Given the description of an element on the screen output the (x, y) to click on. 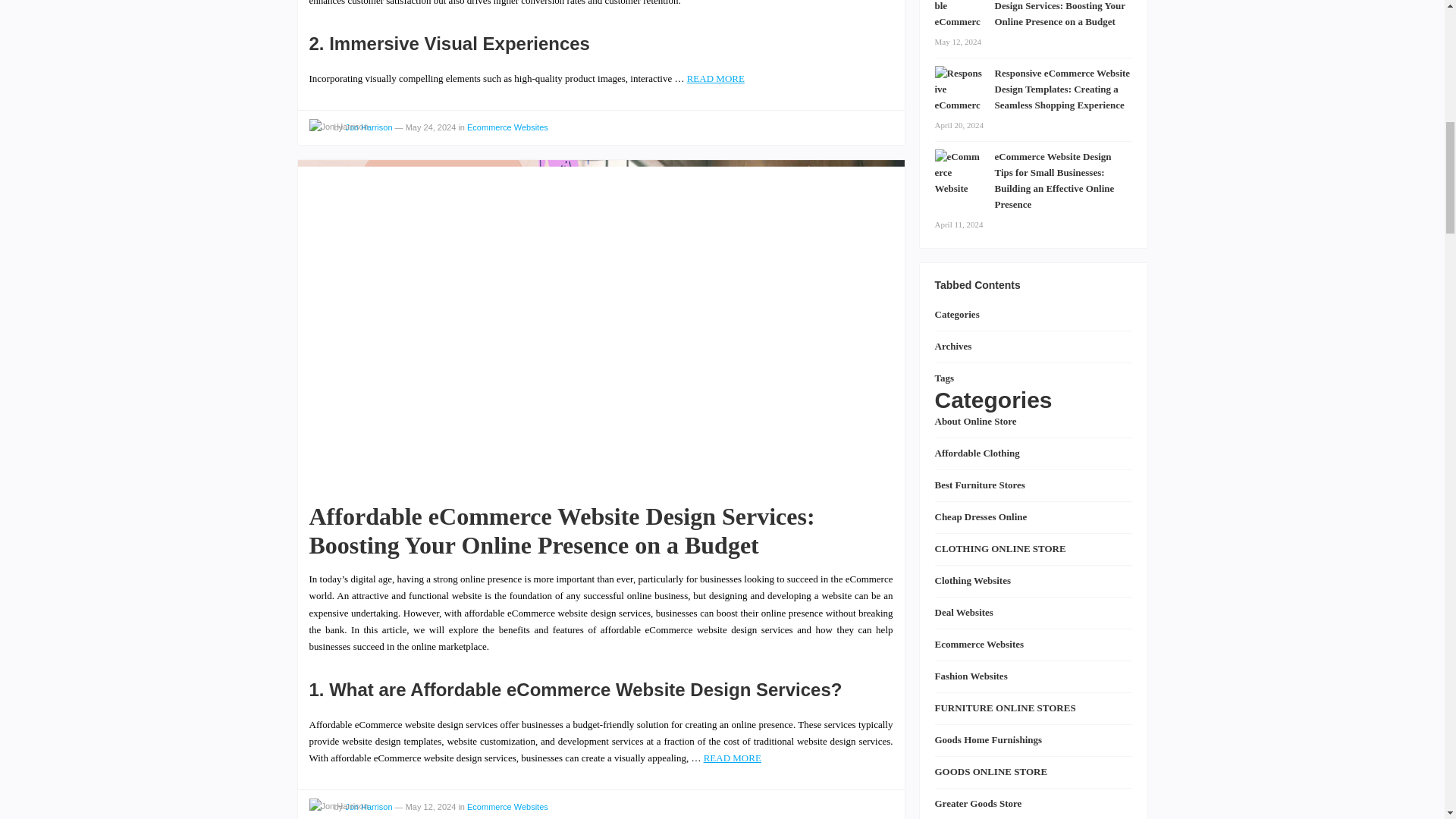
READ MORE (715, 78)
Jon Harrison (368, 126)
View all posts by Jon Harrison (338, 126)
View all posts by Jon Harrison (338, 806)
